Given the description of an element on the screen output the (x, y) to click on. 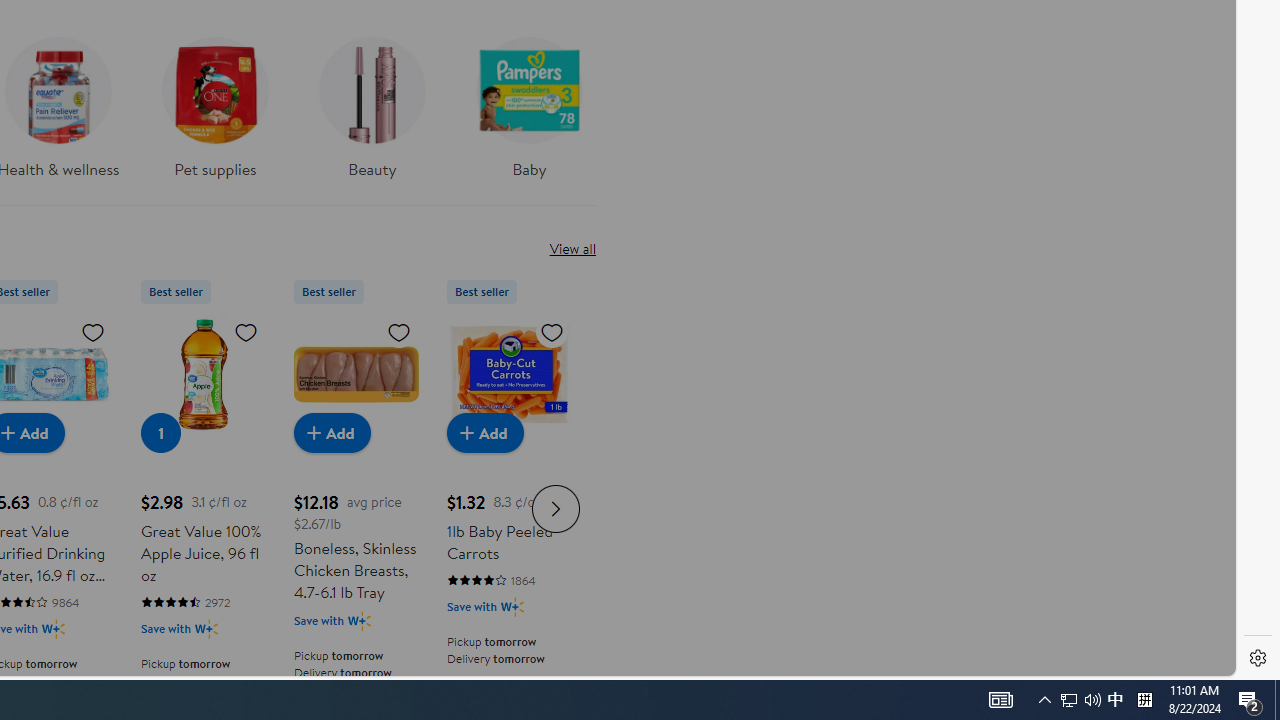
Beauty (371, 101)
Pet supplies (214, 101)
Beauty (371, 114)
View all (572, 248)
Add to cart - 1lb Baby Peeled Carrots (484, 431)
Pet supplies (214, 114)
Sign in to add to Favorites list, 1lb Baby Peeled Carrots (552, 331)
Boneless, Skinless Chicken Breasts, 4.7-6.1 lb Tray (356, 374)
Great Value 100% Apple Juice, 96 fl oz (203, 374)
Next slide for Product Carousel list (555, 507)
1lb Baby Peeled Carrots (509, 374)
